Given the description of an element on the screen output the (x, y) to click on. 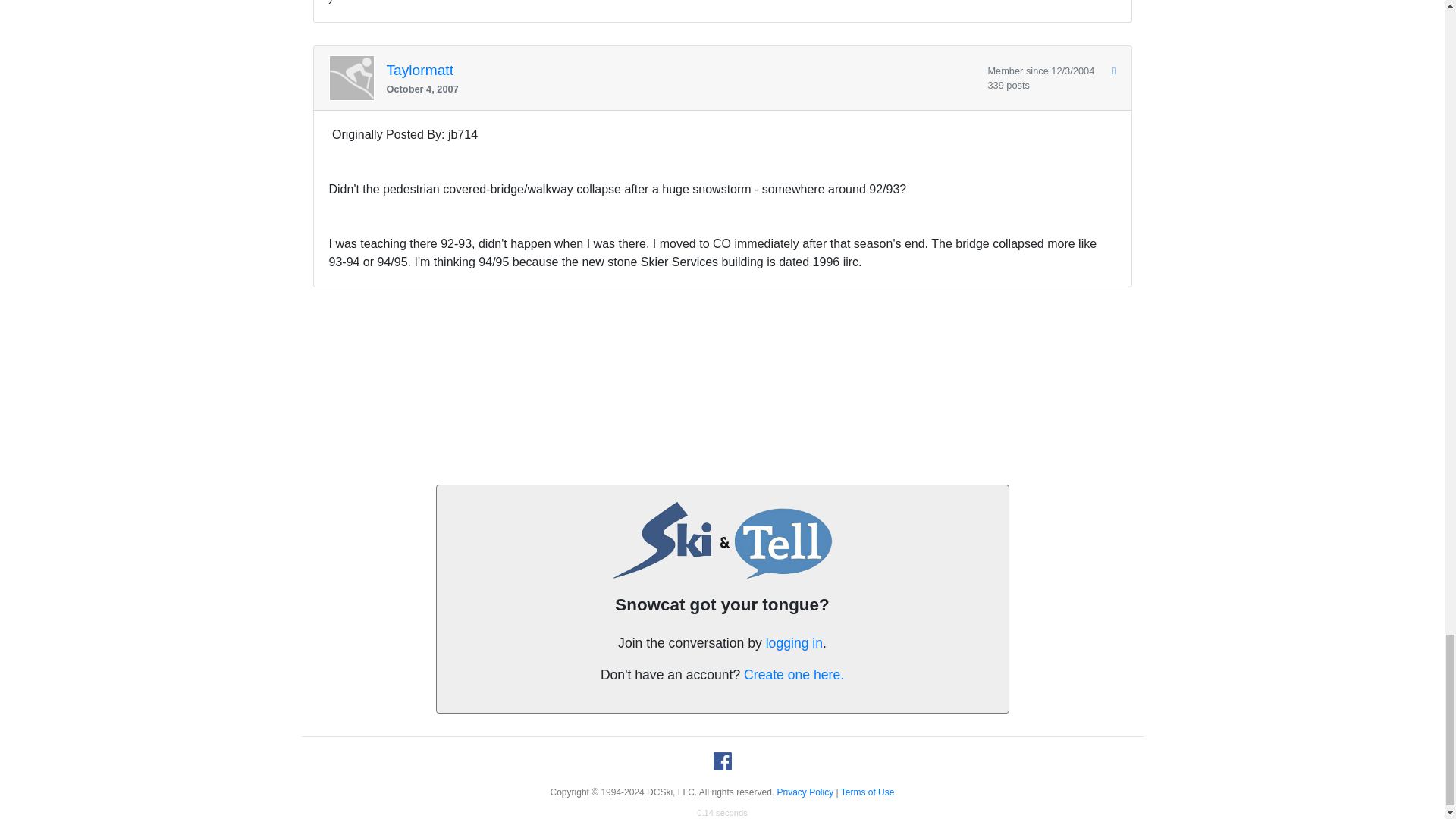
October 4, 2007 at 06:17 pm (681, 88)
